Given the description of an element on the screen output the (x, y) to click on. 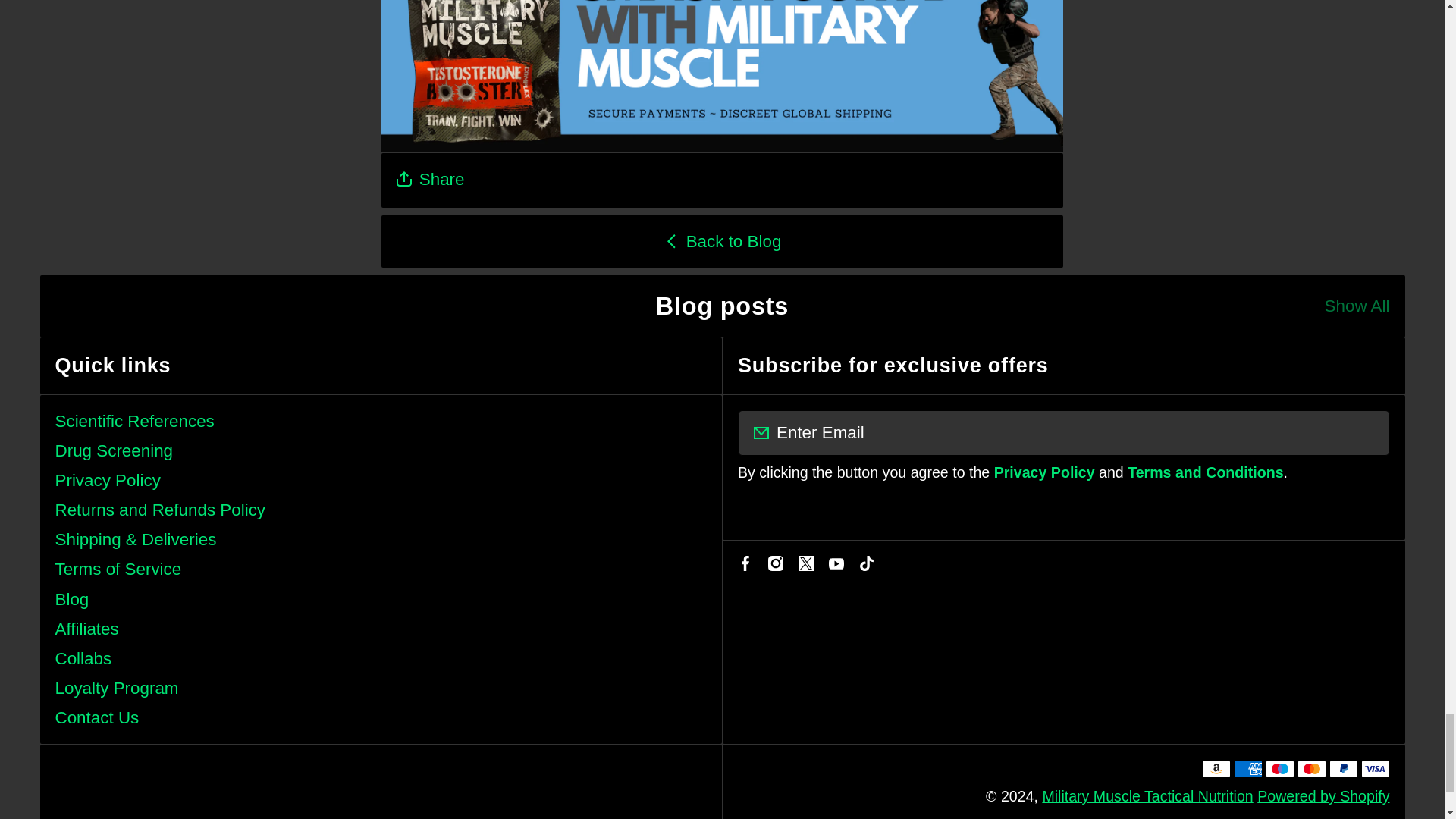
Mastercard (1310, 769)
Amazon (1215, 769)
Visa (1374, 769)
PayPal (1341, 769)
Maestro (1279, 769)
American Express (1247, 769)
